Given the description of an element on the screen output the (x, y) to click on. 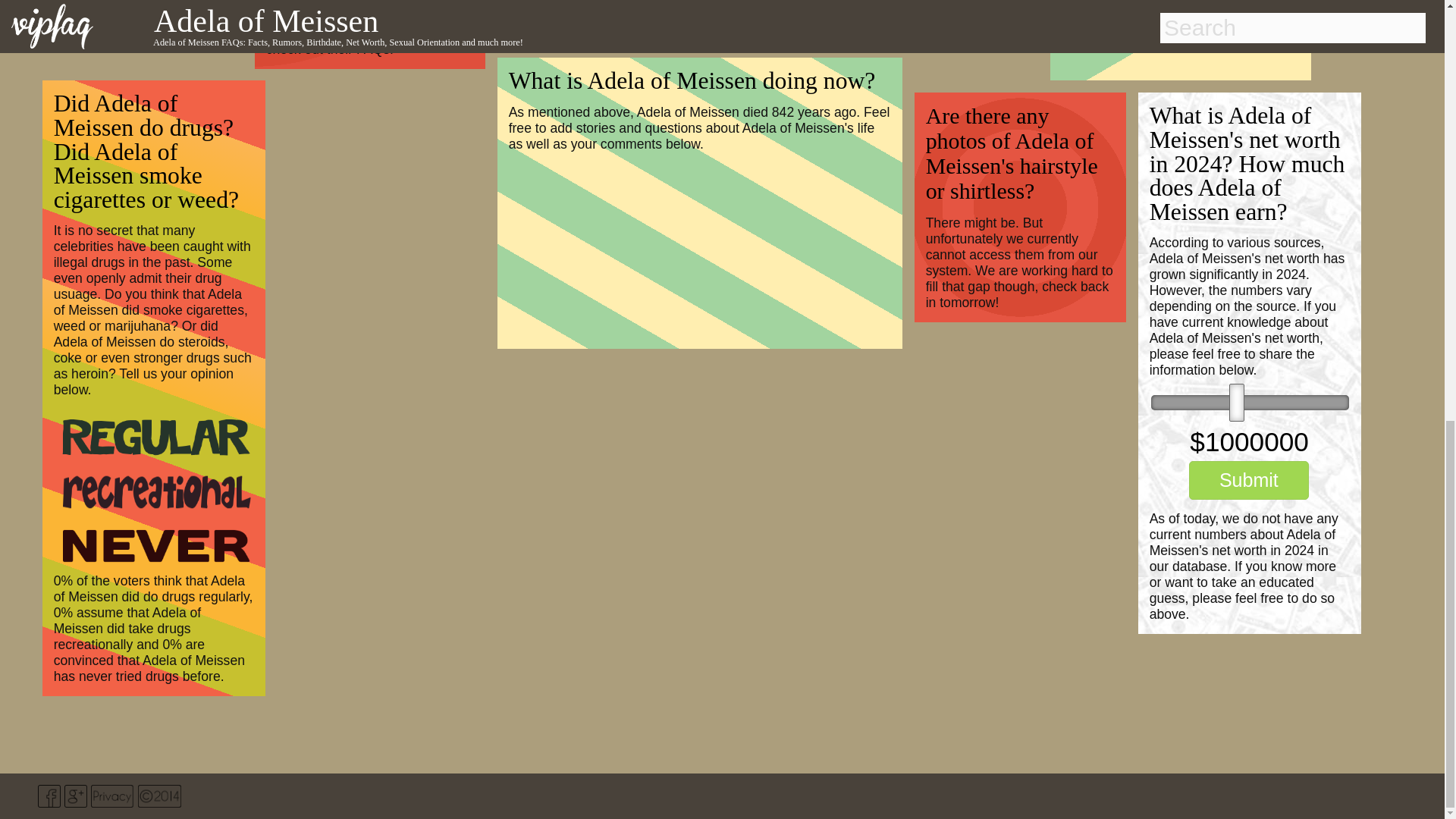
6 (1250, 402)
Edith of Wessex (340, 4)
Submit (1248, 480)
